Given the description of an element on the screen output the (x, y) to click on. 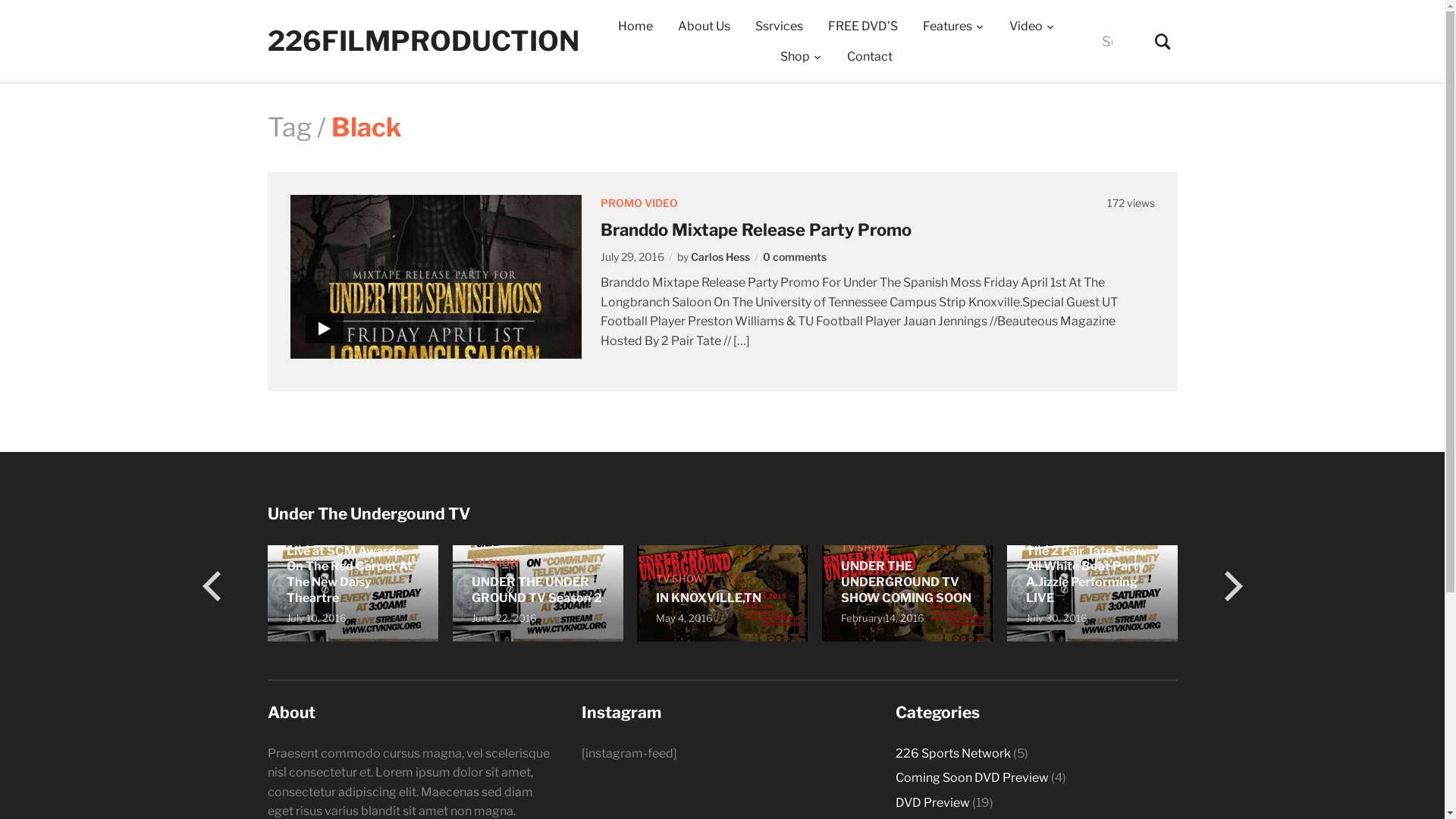
IN KNOXVILLE,TN Element type: text (707, 597)
UNDER THE UNDER GROUND TV Season 2 Element type: hover (537, 591)
TV SHOW Element type: text (495, 562)
Branddo Mixtape Release Party Promo Element type: hover (434, 275)
226FILMPRODUCTION Element type: text (422, 40)
226 Sports Network Element type: text (952, 753)
PROMO VIDEO Element type: text (638, 202)
TV SHOW Element type: text (125, 499)
UNDER THE UNDERGROUND TV SHOW COMING SOON Element type: text (905, 581)
Video Element type: text (1031, 26)
TV SHOW Element type: text (310, 515)
Features Element type: text (953, 26)
Coming Soon DVD Preview Element type: text (971, 777)
Branddo Mixtape Release Party Promo Element type: text (755, 229)
0 comments Element type: text (794, 256)
Shop Element type: text (800, 56)
Contact Element type: text (869, 56)
UNDER THE UNDERGROUND TV SHOW COMING SOON Element type: hover (907, 591)
TV SHOW Element type: text (1049, 531)
TV SHOW Element type: text (678, 578)
About Us Element type: text (703, 26)
Home Element type: text (635, 26)
Carlos Hess Element type: text (719, 256)
Ssrvices Element type: text (778, 26)
UNDER THE UNDER GROUND TV Season 2 Element type: text (536, 589)
IN KNOXVILLE,TN Element type: hover (722, 591)
DVD Preview Element type: text (931, 802)
TV SHOW Element type: text (864, 547)
